Given the description of an element on the screen output the (x, y) to click on. 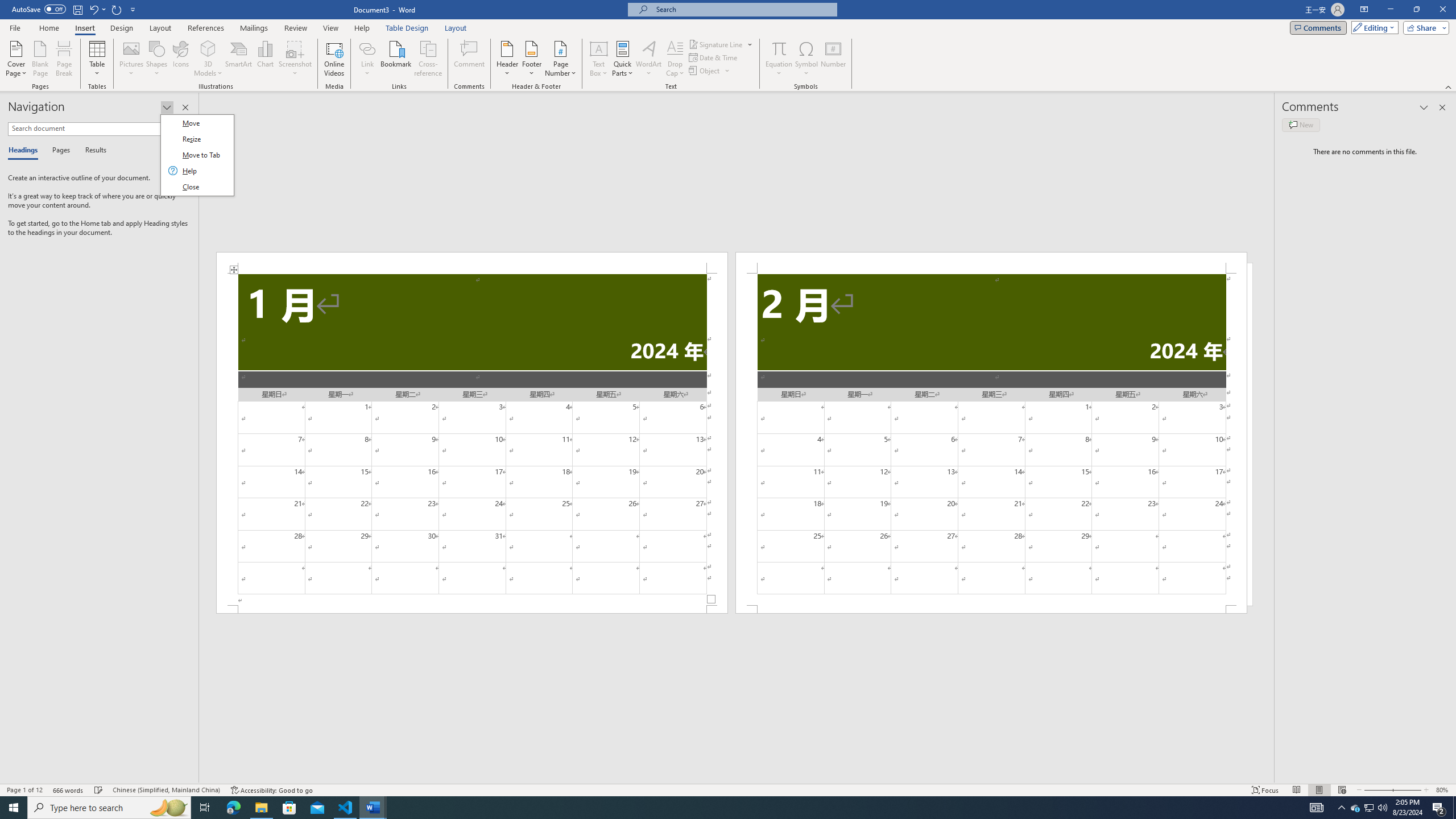
Online Videos... (333, 58)
Equation (778, 58)
Object... (705, 69)
Footer -Section 2- (991, 609)
Spelling and Grammar Check Checking (98, 790)
Header -Section 1- (471, 263)
Screenshot (295, 58)
Table Design (407, 28)
Shapes (156, 58)
Icons (180, 58)
